Given the description of an element on the screen output the (x, y) to click on. 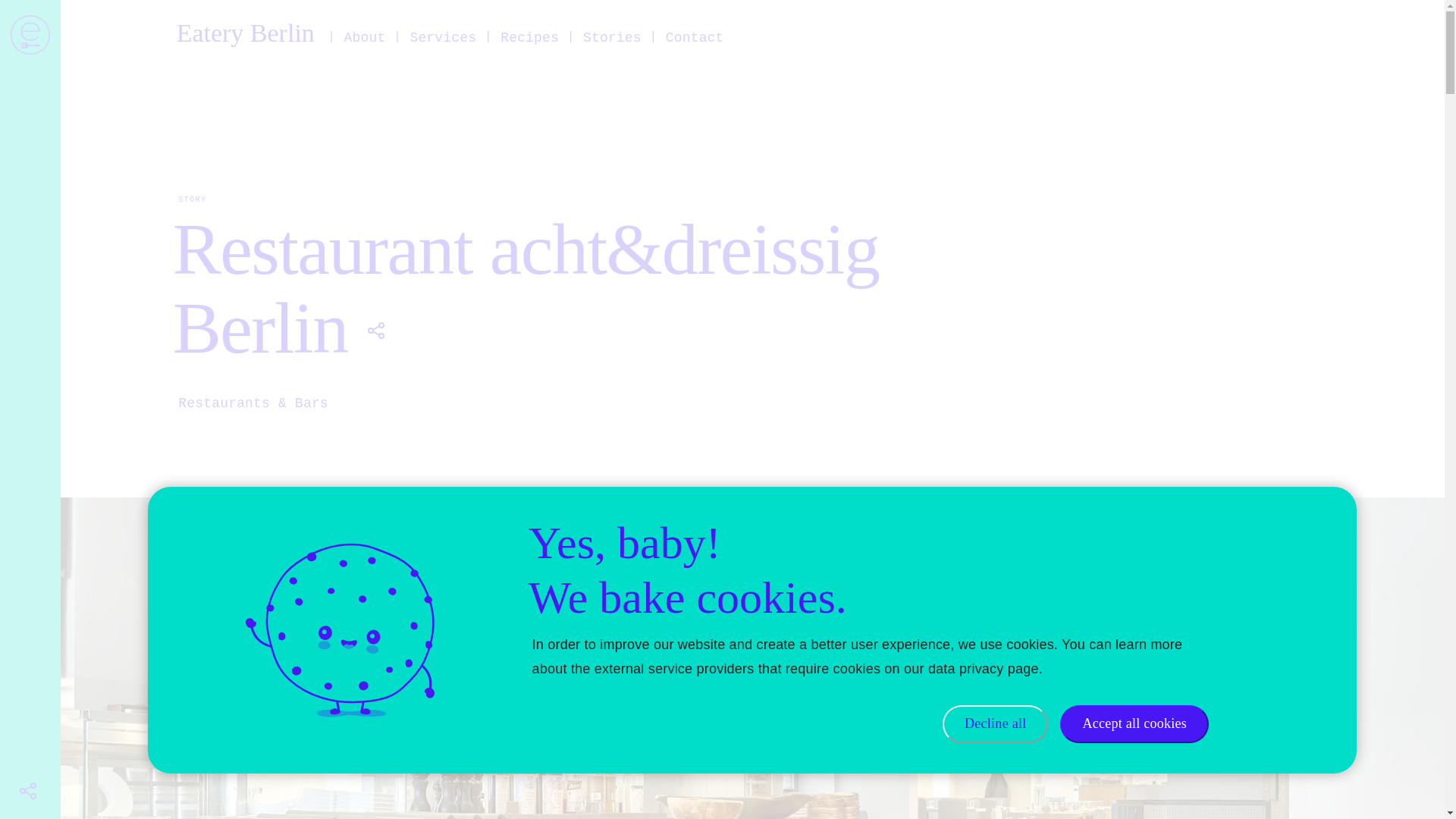
About (364, 37)
Food Photography (475, 73)
Contact (694, 37)
Recipes (528, 37)
Stories (611, 37)
Eatery Berlin (245, 33)
Services (442, 37)
